Given the description of an element on the screen output the (x, y) to click on. 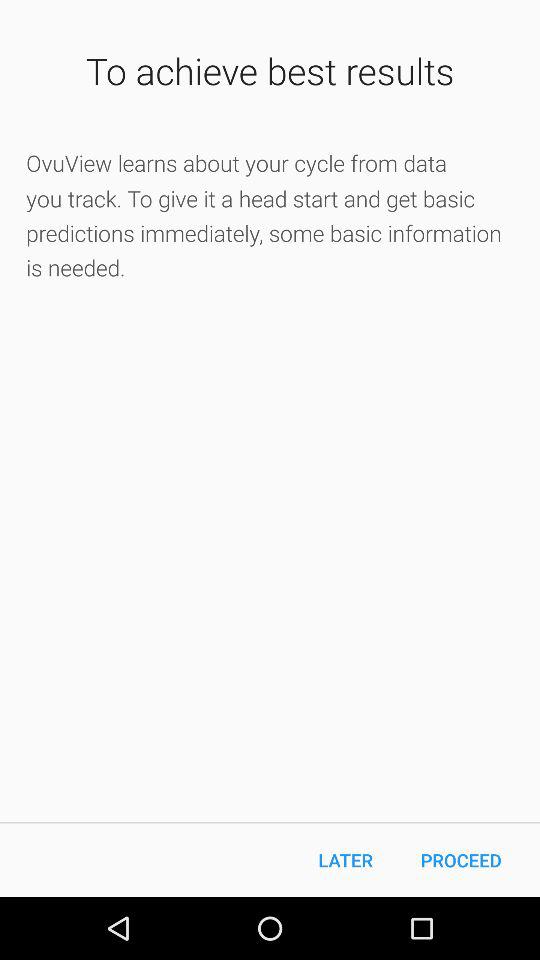
open later item (345, 859)
